Given the description of an element on the screen output the (x, y) to click on. 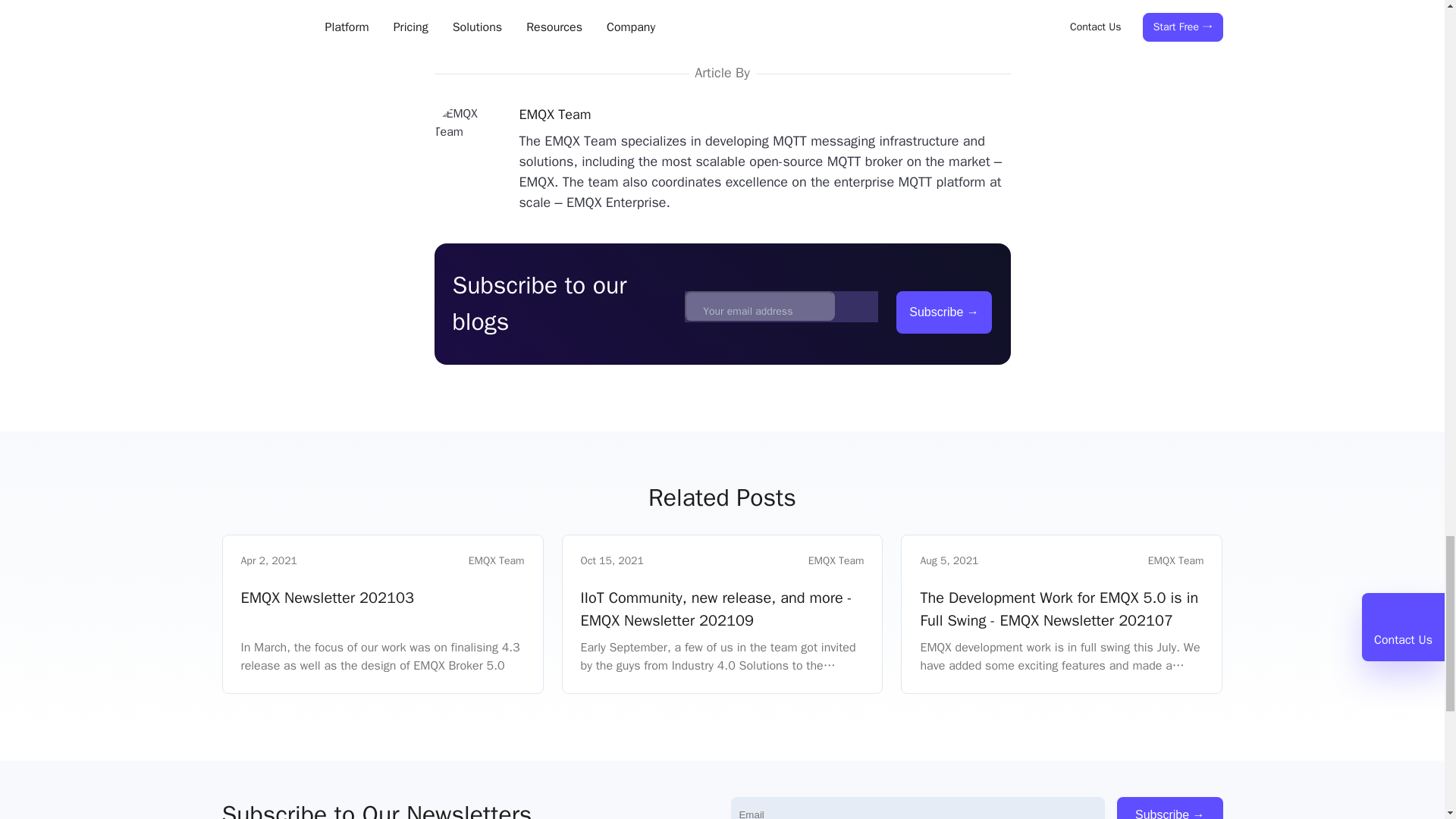
EMQX Newsletter 202103 (382, 609)
